Given the description of an element on the screen output the (x, y) to click on. 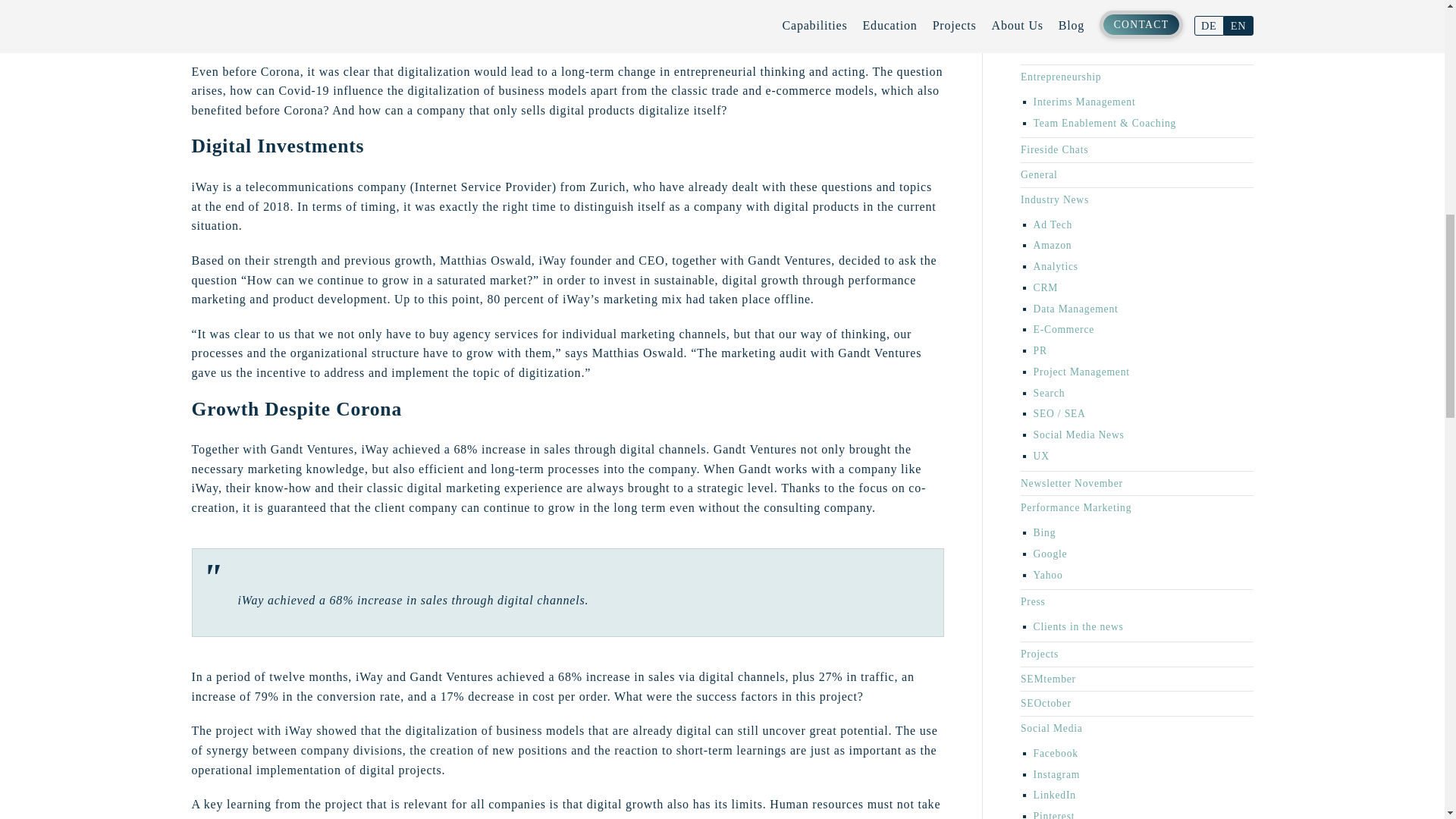
Interims Management (1084, 101)
Entrepreneurship (1060, 76)
Marketing Audits (1074, 28)
